Given the description of an element on the screen output the (x, y) to click on. 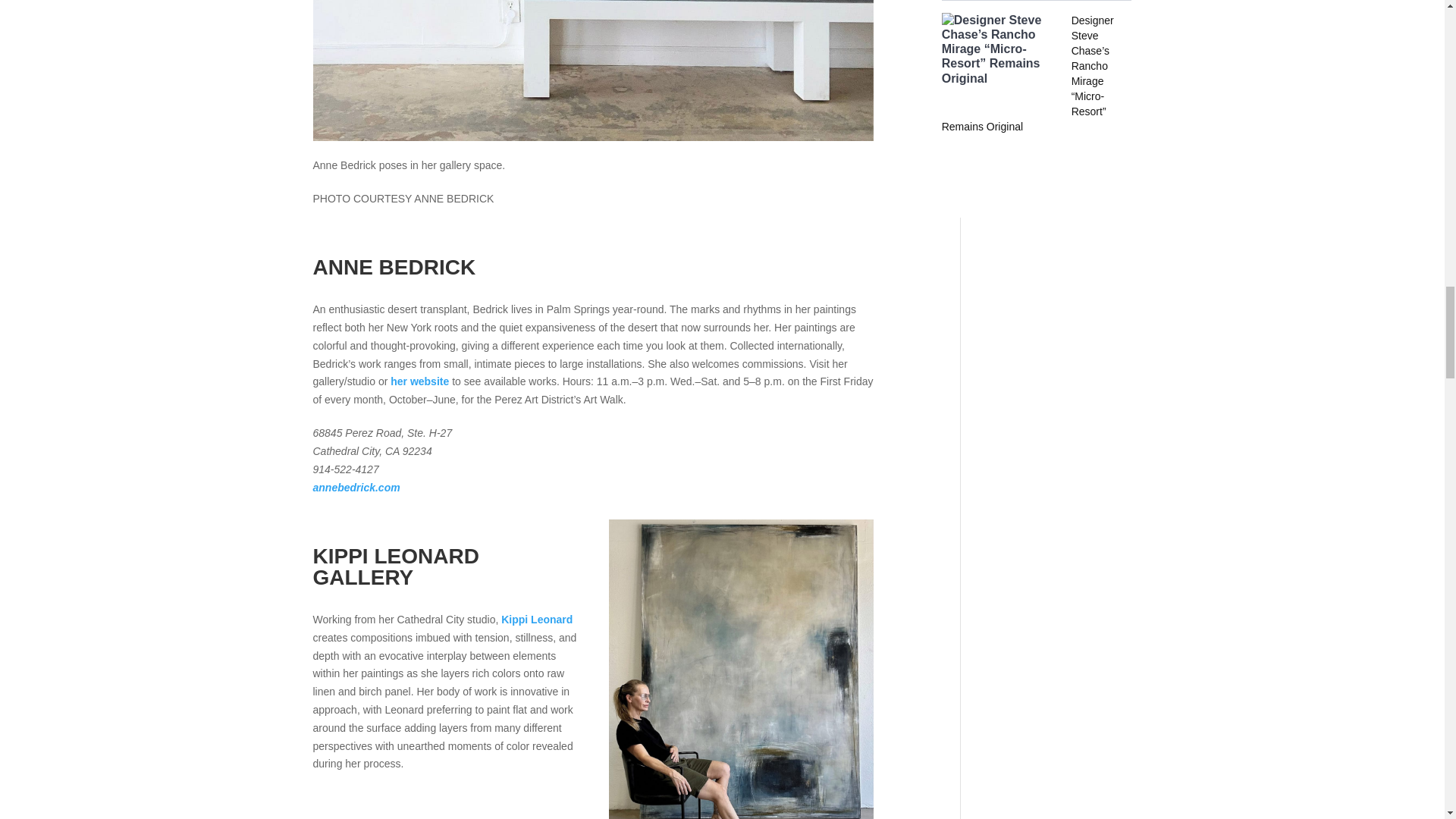
Follow on Instagram (975, 188)
Follow on X (1036, 188)
Follow on Facebook (1005, 188)
